Given the description of an element on the screen output the (x, y) to click on. 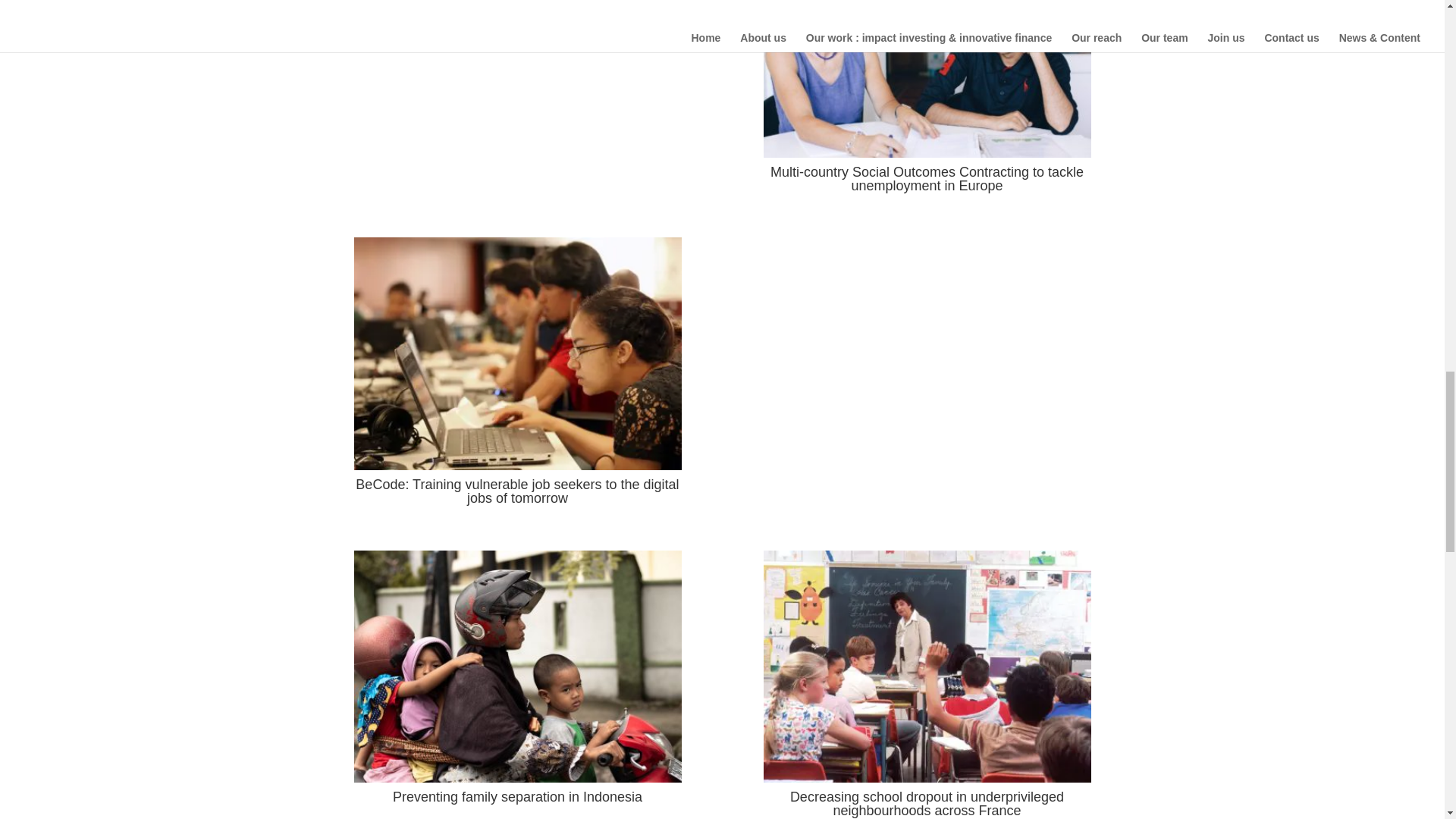
Preventing family separation in Indonesia (517, 796)
Preventing family separation in Indonesia (517, 796)
